Given the description of an element on the screen output the (x, y) to click on. 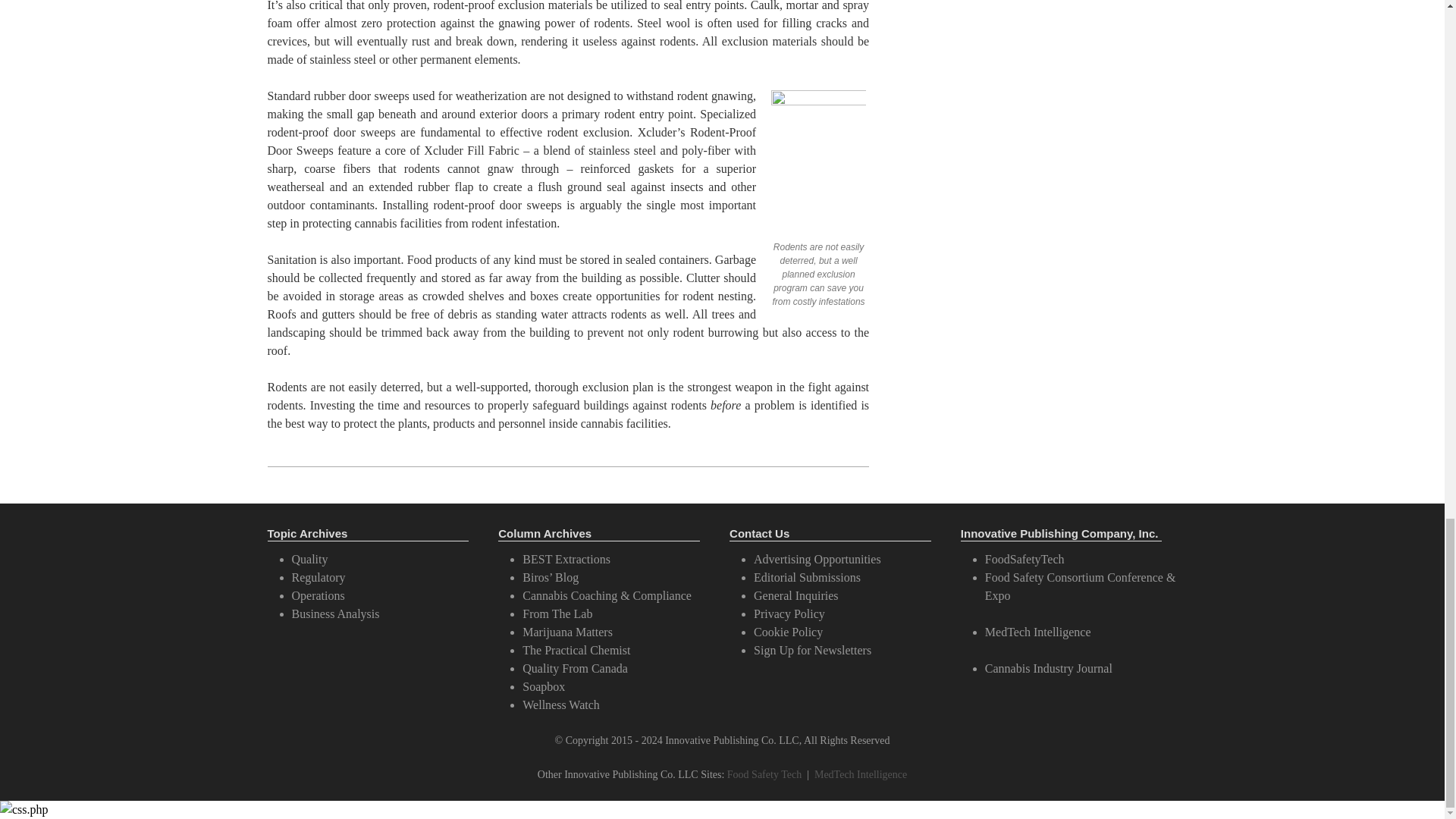
Quality (309, 558)
Operations (317, 594)
BEST Extractions (566, 558)
Regulatory (318, 576)
Business Analysis (334, 613)
